Given the description of an element on the screen output the (x, y) to click on. 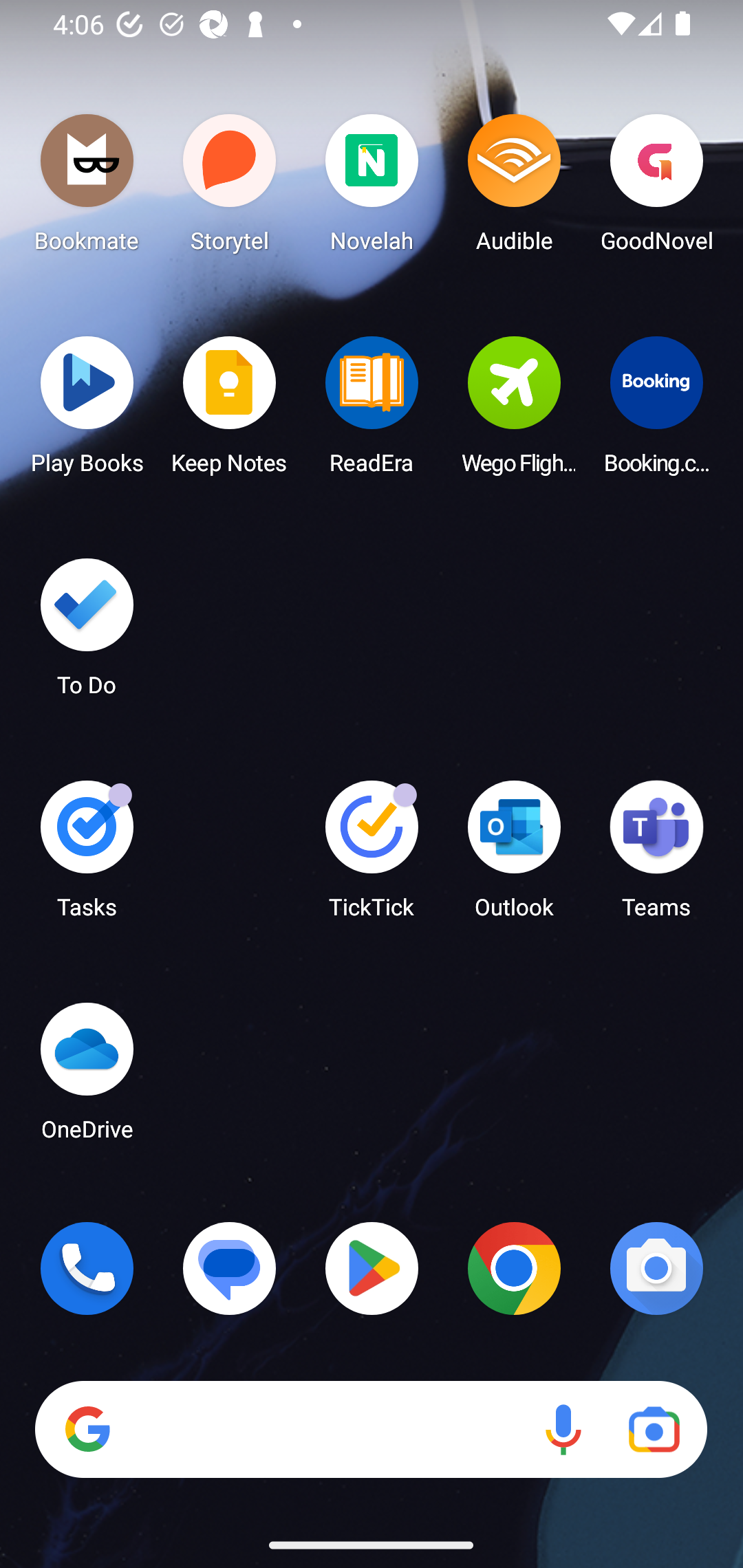
Bookmate (86, 188)
Storytel (229, 188)
Novelah (371, 188)
Audible (513, 188)
GoodNovel (656, 188)
Play Books (86, 410)
Keep Notes (229, 410)
ReadEra (371, 410)
Wego Flights & Hotels (513, 410)
Booking.com (656, 410)
To Do (86, 633)
Tasks Tasks has 1 notification (86, 854)
TickTick TickTick has 3 notifications (371, 854)
Outlook (513, 854)
Teams (656, 854)
OneDrive (86, 1076)
Phone (86, 1268)
Messages (229, 1268)
Play Store (371, 1268)
Chrome (513, 1268)
Camera (656, 1268)
Voice search (562, 1429)
Google Lens (653, 1429)
